Given the description of an element on the screen output the (x, y) to click on. 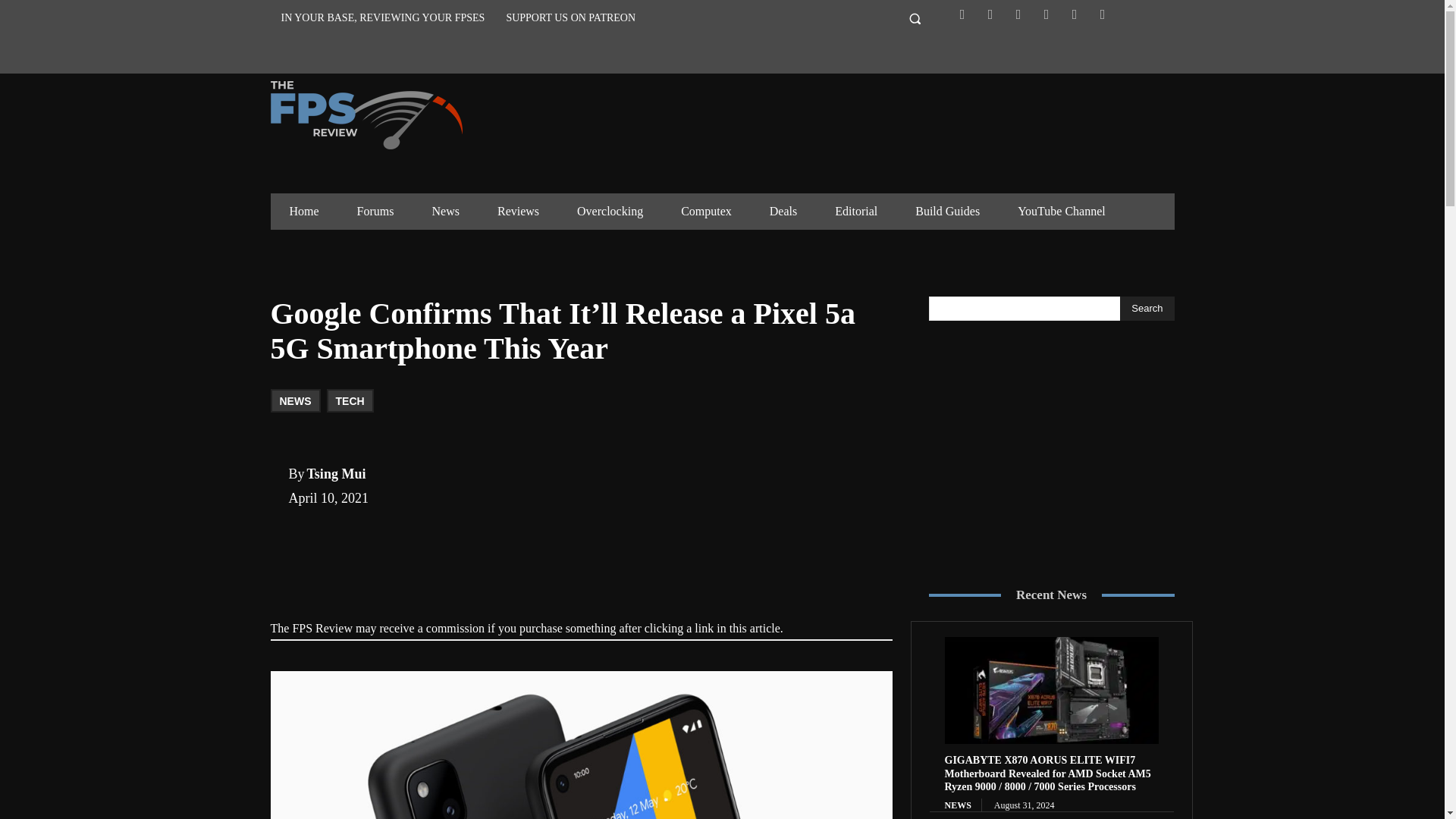
Flipboard (990, 13)
Instagram (1018, 13)
Facebook (962, 13)
